Given the description of an element on the screen output the (x, y) to click on. 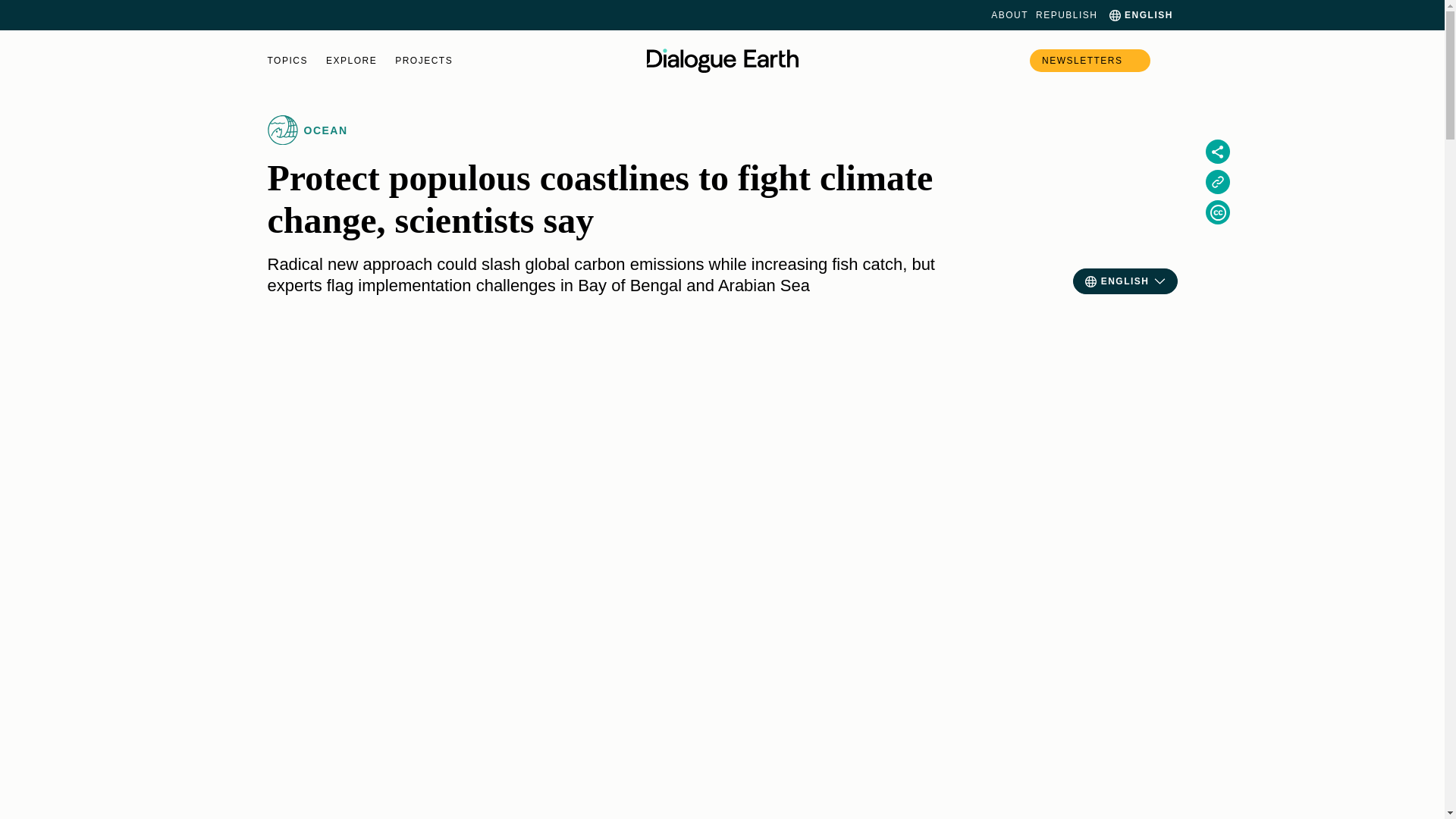
EXPLORE (351, 60)
ABOUT (1009, 14)
REPUBLISH (1066, 14)
ENGLISH (1139, 15)
English (1139, 15)
TOPICS (286, 60)
